Given the description of an element on the screen output the (x, y) to click on. 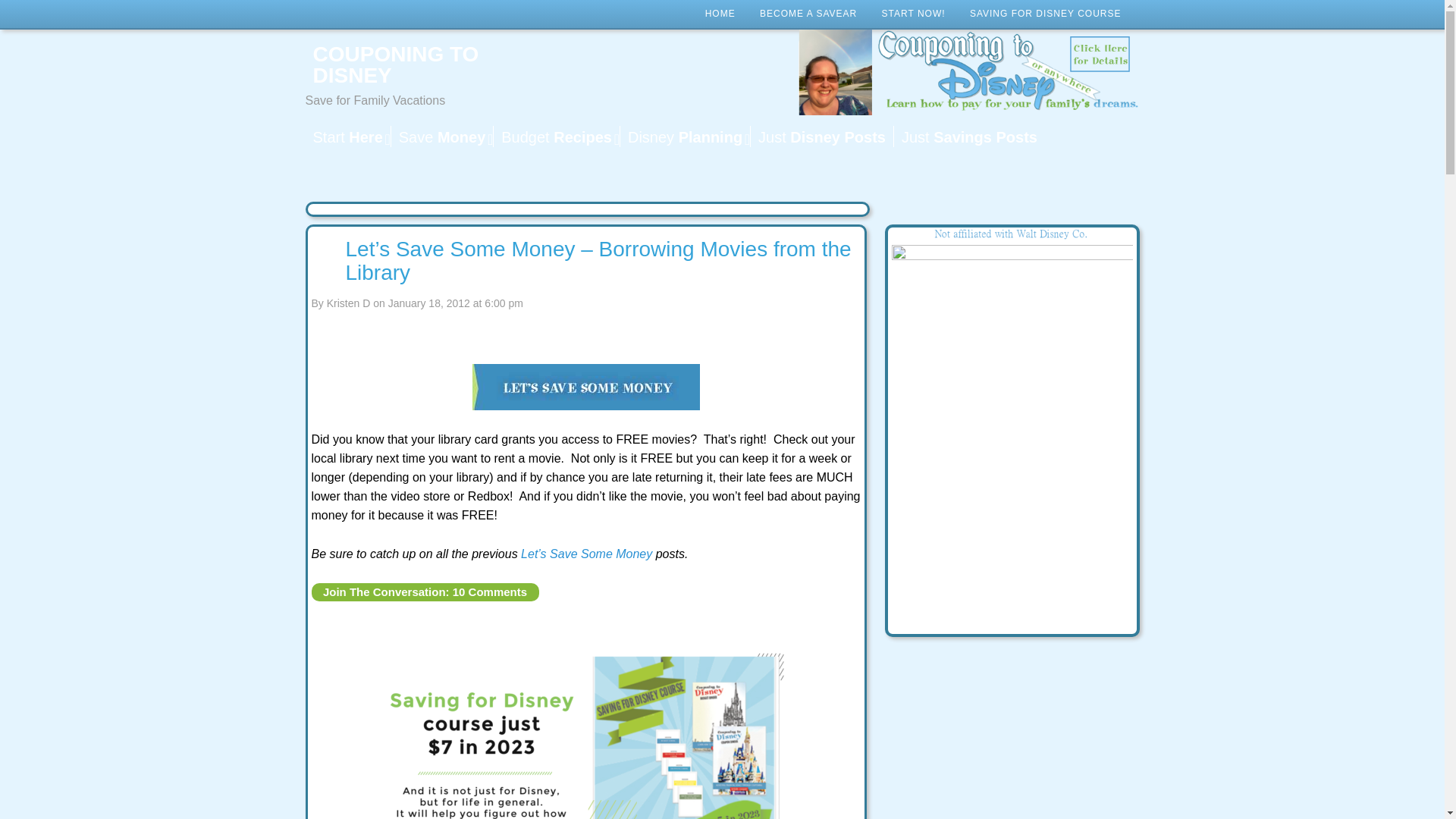
4-savemoney (584, 386)
money (441, 136)
Budget Recipes (556, 136)
COUPONING TO DISNEY (425, 64)
Save Money (441, 136)
Disney Planning (684, 136)
Start Here  (347, 136)
Start Here (347, 136)
BECOME A SAVEAR (808, 13)
